Given the description of an element on the screen output the (x, y) to click on. 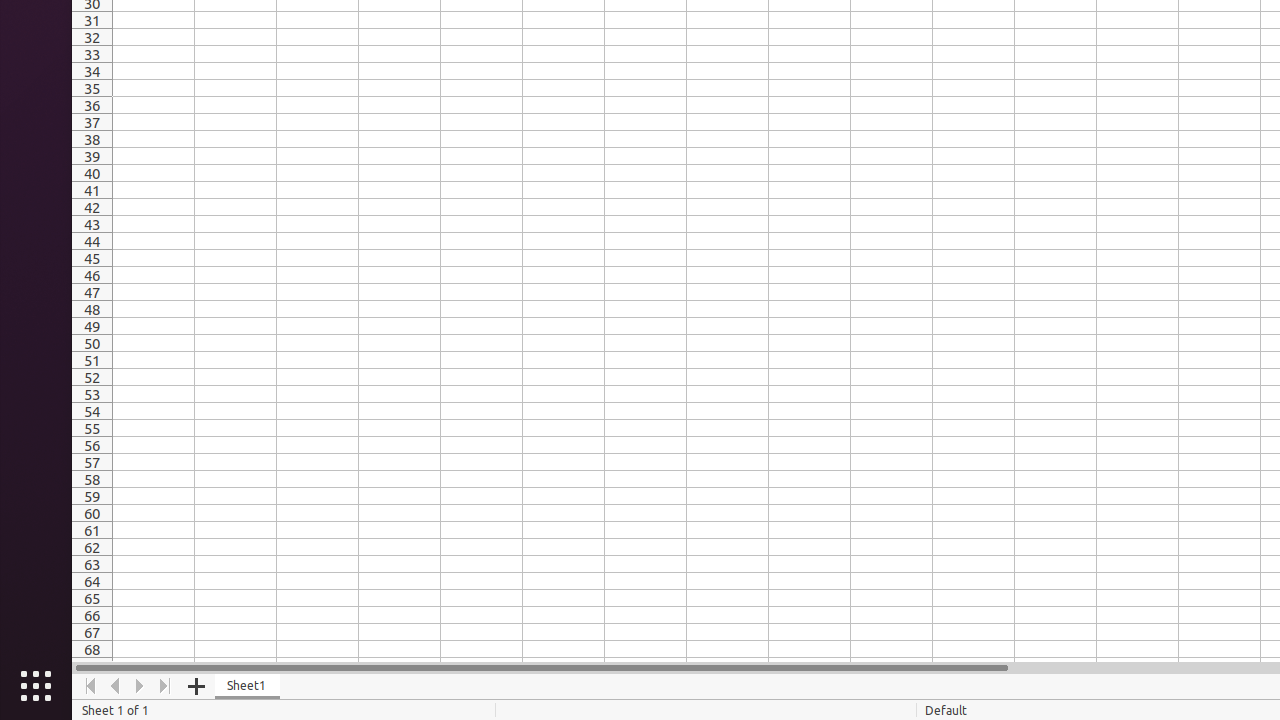
Move Right Element type: push-button (140, 686)
Move Left Element type: push-button (115, 686)
Move To Home Element type: push-button (90, 686)
Move To End Element type: push-button (165, 686)
Show Applications Element type: toggle-button (36, 686)
